Given the description of an element on the screen output the (x, y) to click on. 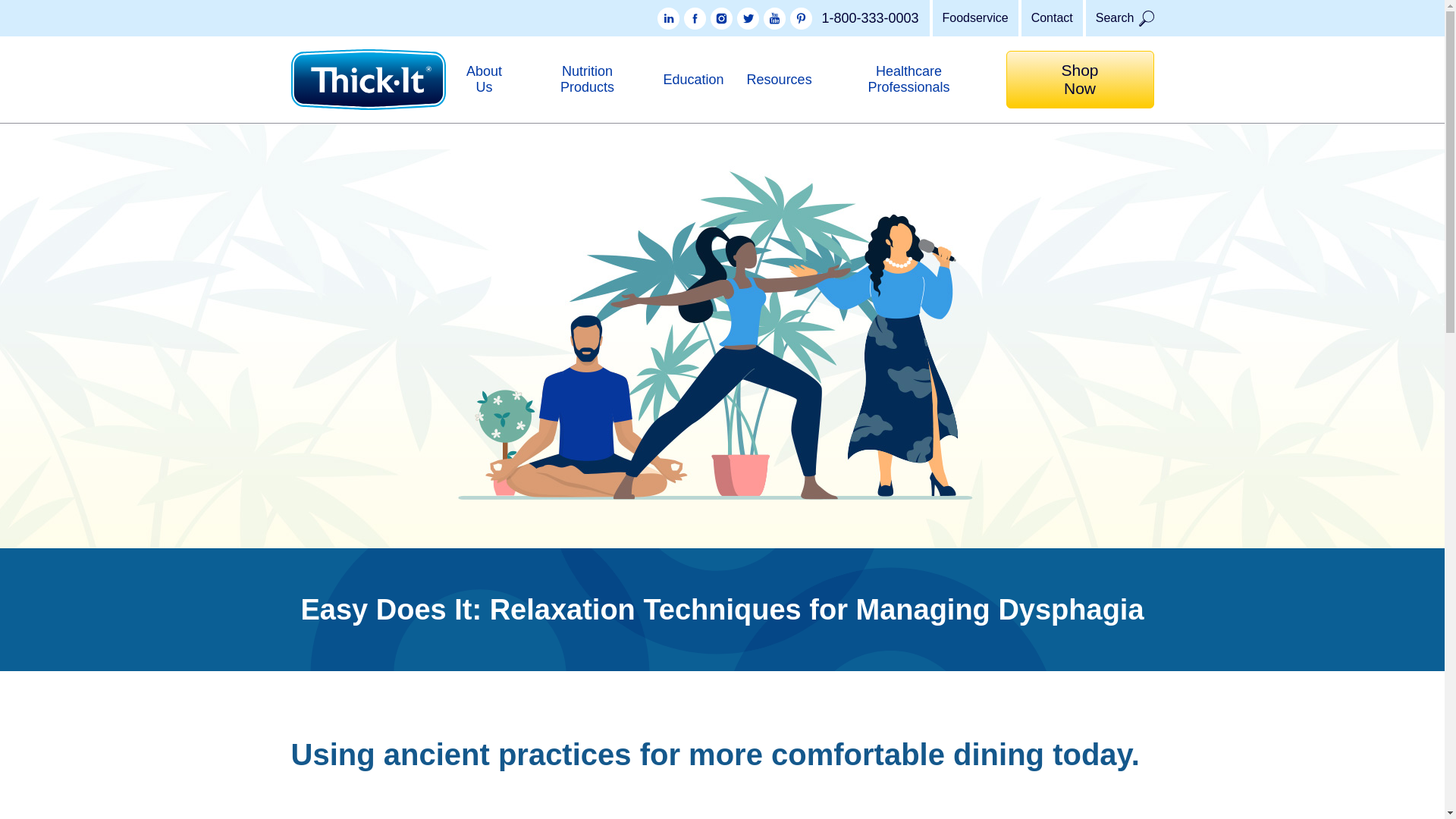
Resources (779, 79)
Contact (1050, 18)
About Us (483, 79)
Healthcare Professionals (909, 79)
Nutrition Products (587, 79)
Search (1118, 18)
Foodservice (973, 18)
Education (693, 79)
Shop Now (1080, 79)
